Given the description of an element on the screen output the (x, y) to click on. 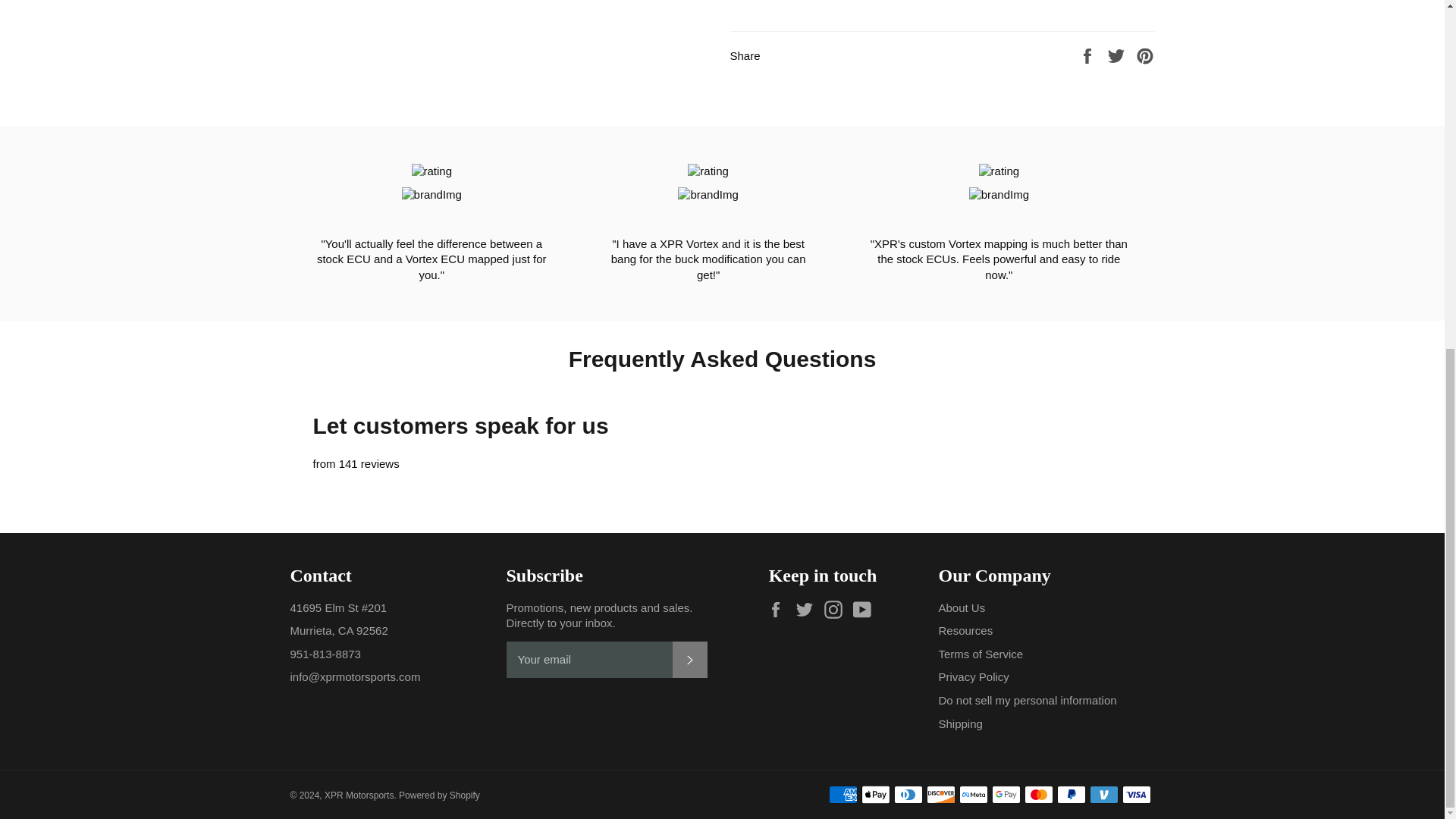
XPR Motorsports on Facebook (779, 609)
Pin on Pinterest (1144, 54)
Tweet on Twitter (1117, 54)
XPR Motorsports on Instagram (837, 609)
Share on Facebook (1088, 54)
XPR Motorsports on YouTube (866, 609)
XPR Motorsports on Twitter (807, 609)
